Given the description of an element on the screen output the (x, y) to click on. 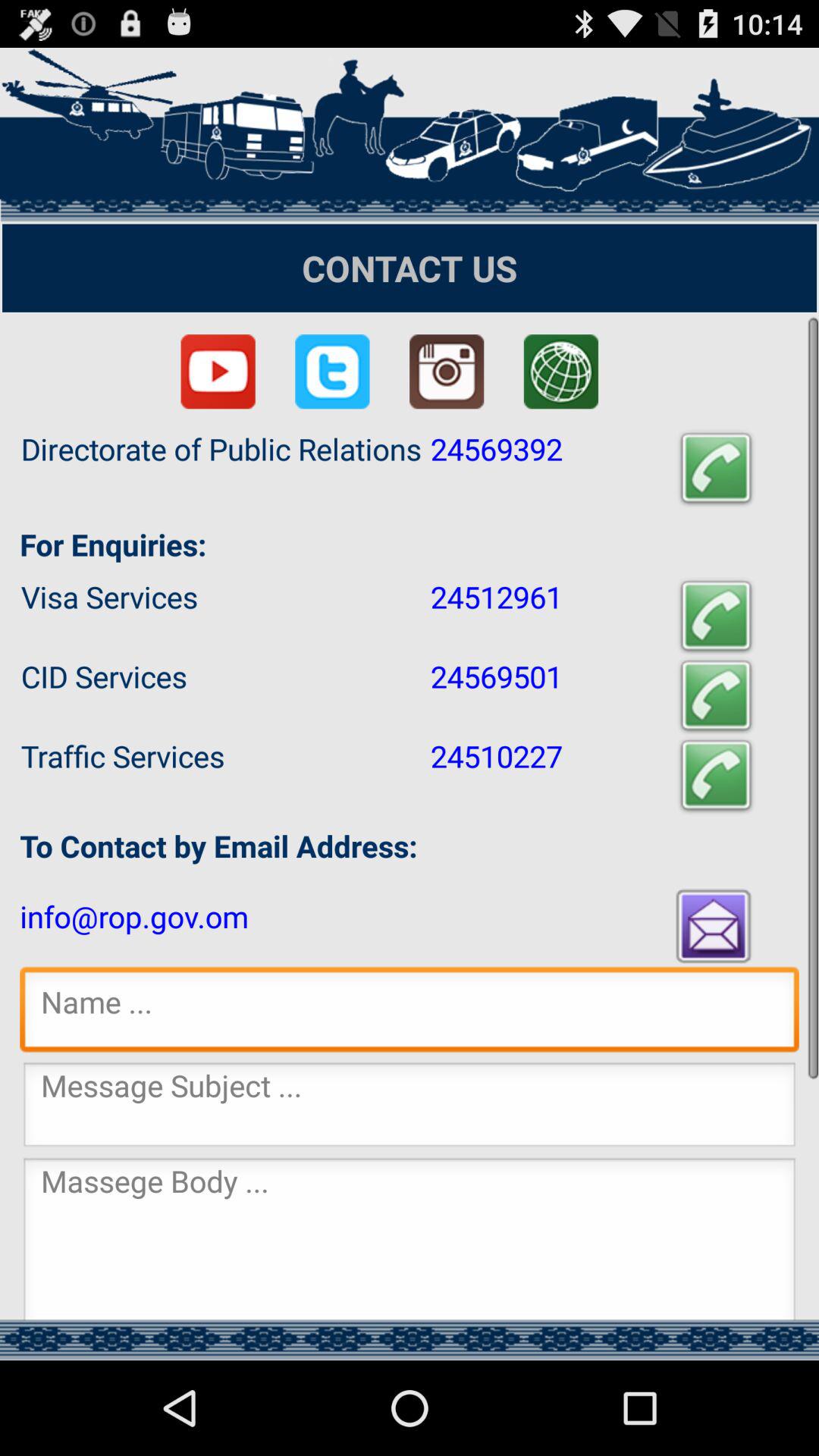
enter massage body (409, 1238)
